Given the description of an element on the screen output the (x, y) to click on. 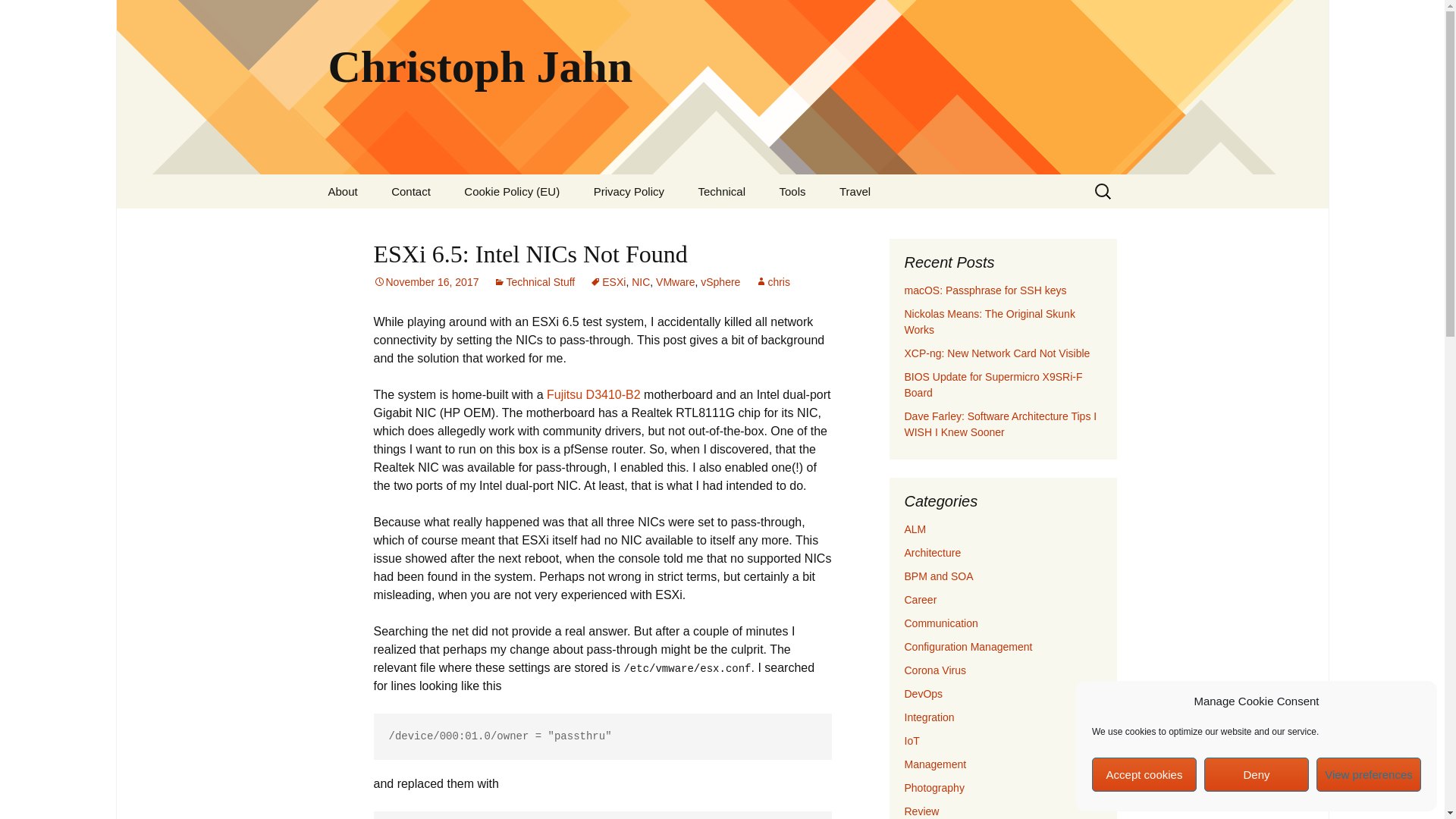
Deny (1256, 774)
chris (772, 282)
View all posts by chris (772, 282)
Boscastle (899, 225)
Convert Address Data from Palm to LDAP (758, 230)
Search (18, 15)
Technical (721, 191)
ESXi (607, 282)
Permalink to ESXi 6.5: Intel NICs Not Found (425, 282)
